Given the description of an element on the screen output the (x, y) to click on. 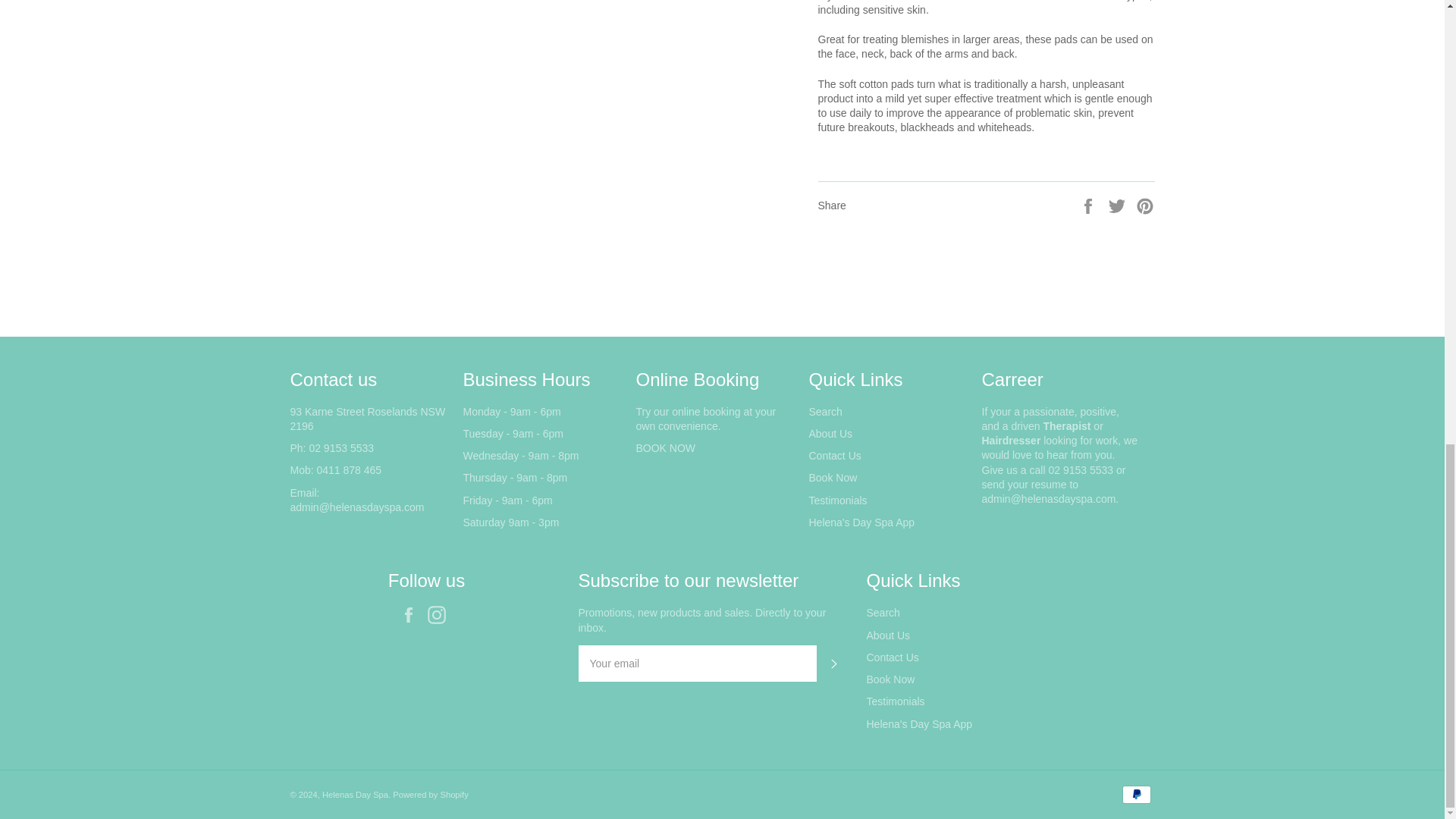
Pin on Pinterest (1144, 204)
Share on Facebook (1089, 204)
Helenas Day Spa on Facebook (411, 615)
Tweet on Twitter (1118, 204)
Helenas Day Spa on Instagram (440, 615)
